Given the description of an element on the screen output the (x, y) to click on. 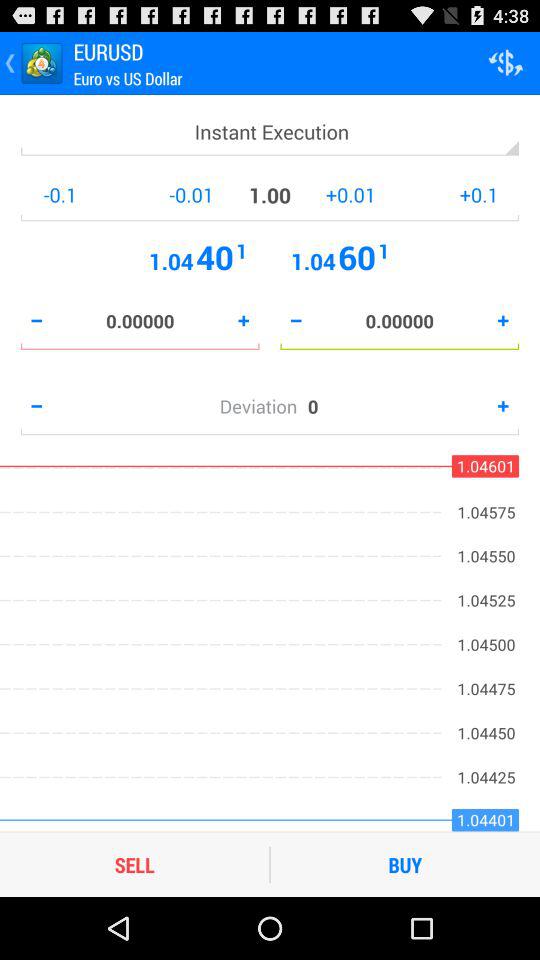
flip until the deviation item (263, 405)
